Given the description of an element on the screen output the (x, y) to click on. 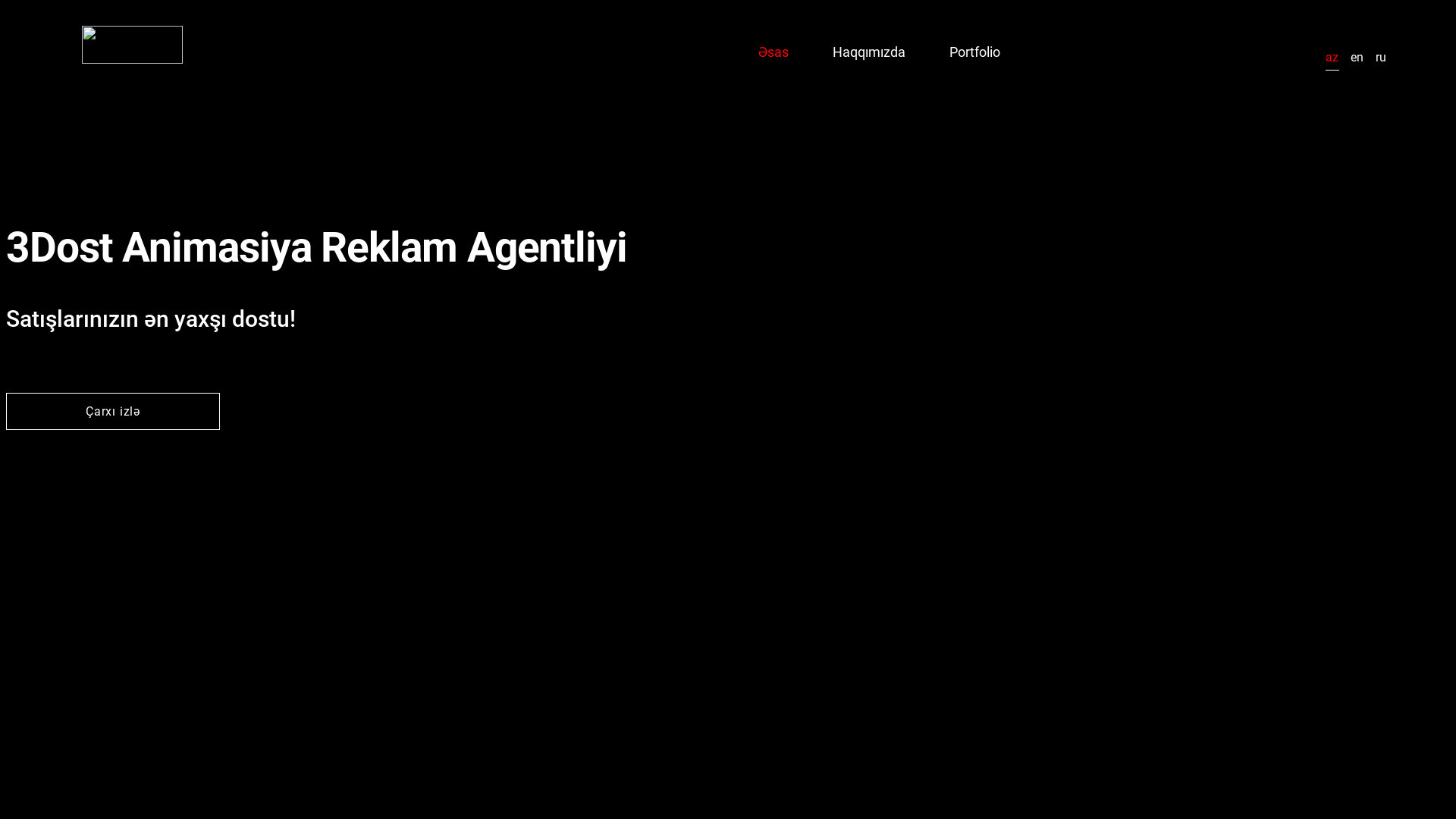
az Element type: text (1331, 57)
en Element type: text (1356, 57)
ru Element type: text (1380, 57)
Portfolio Element type: text (974, 51)
